Given the description of an element on the screen output the (x, y) to click on. 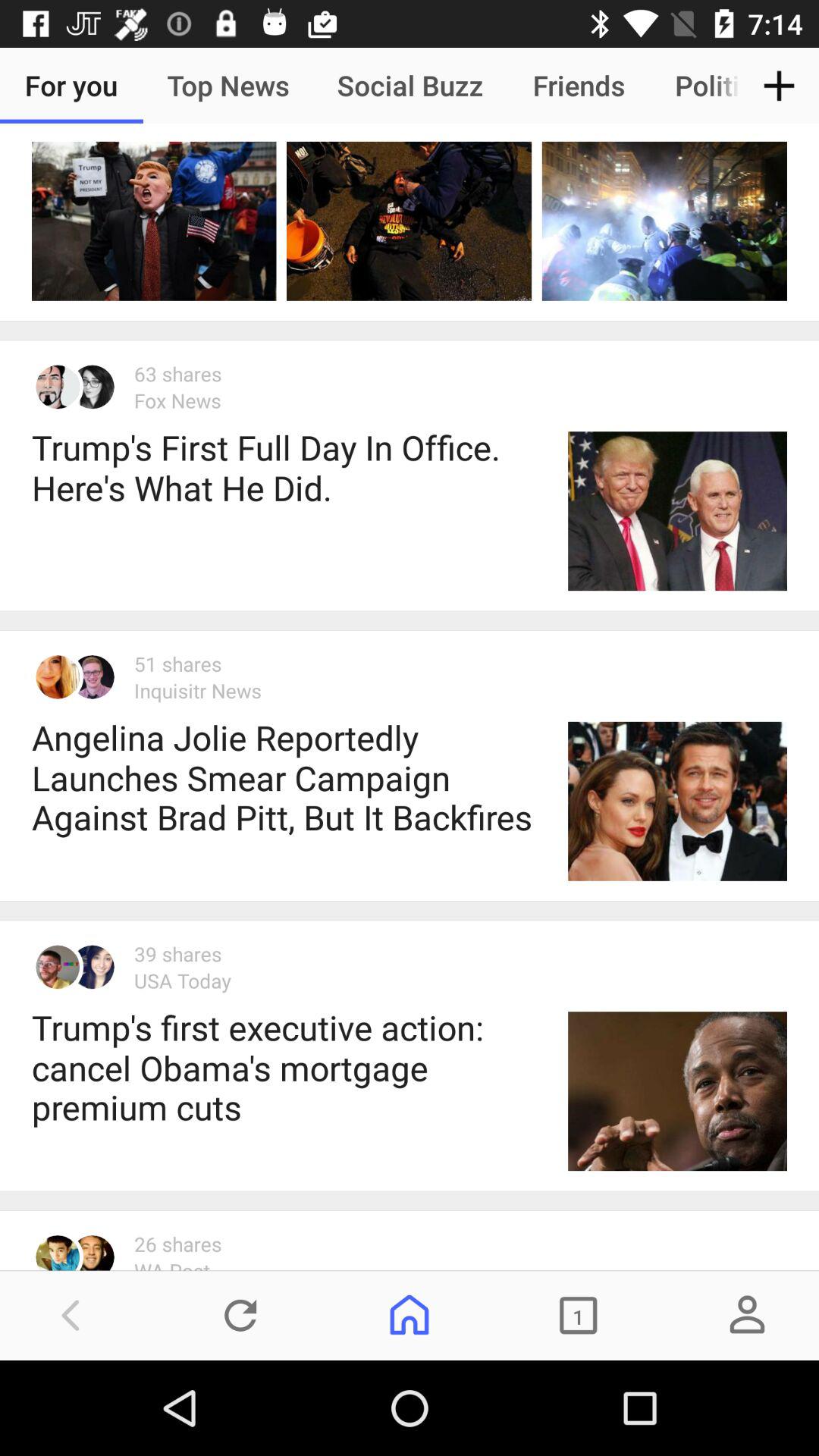
launch icon next to politics item (779, 85)
